Given the description of an element on the screen output the (x, y) to click on. 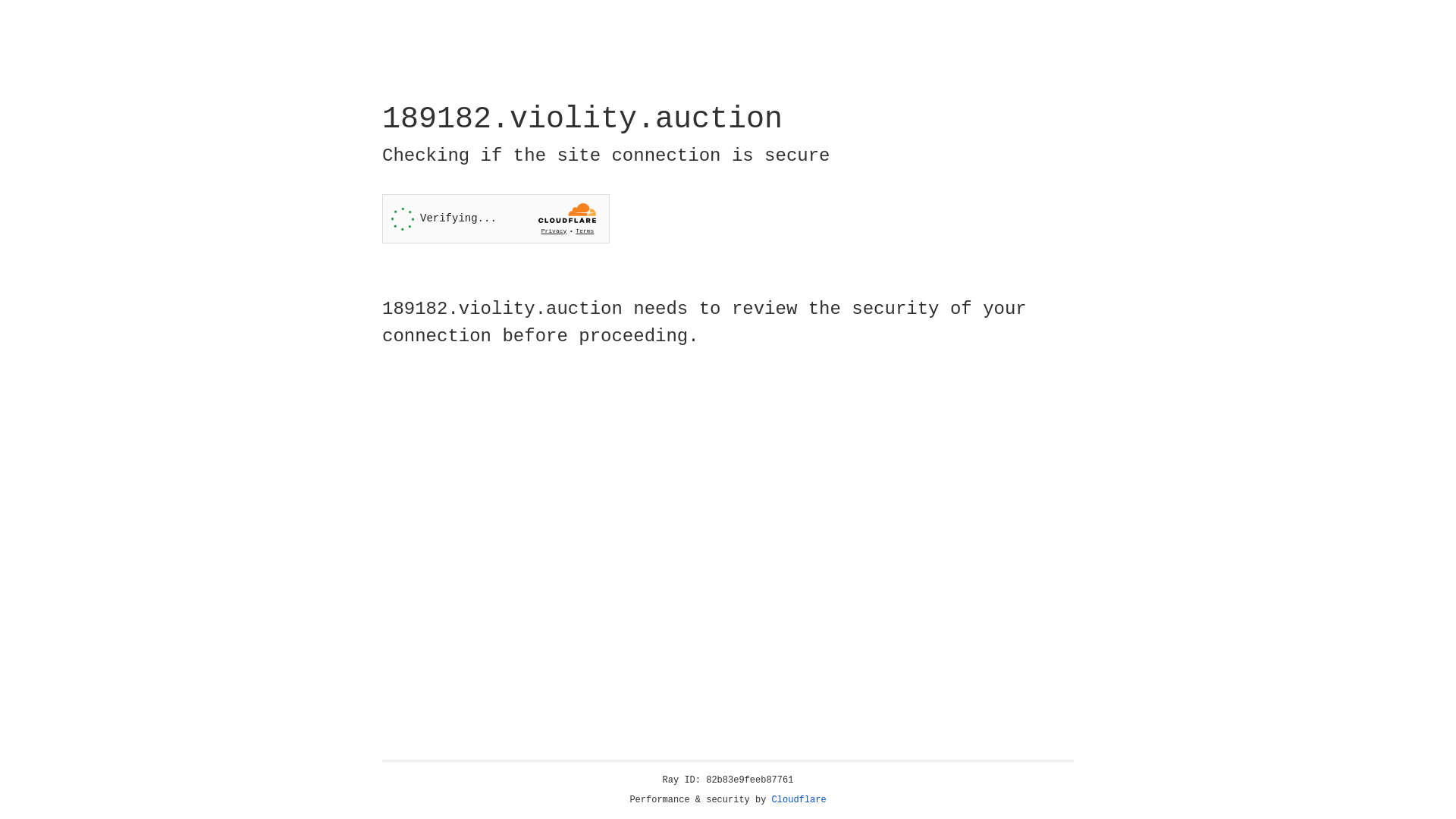
Cloudflare Element type: text (798, 799)
Widget containing a Cloudflare security challenge Element type: hover (495, 218)
